Given the description of an element on the screen output the (x, y) to click on. 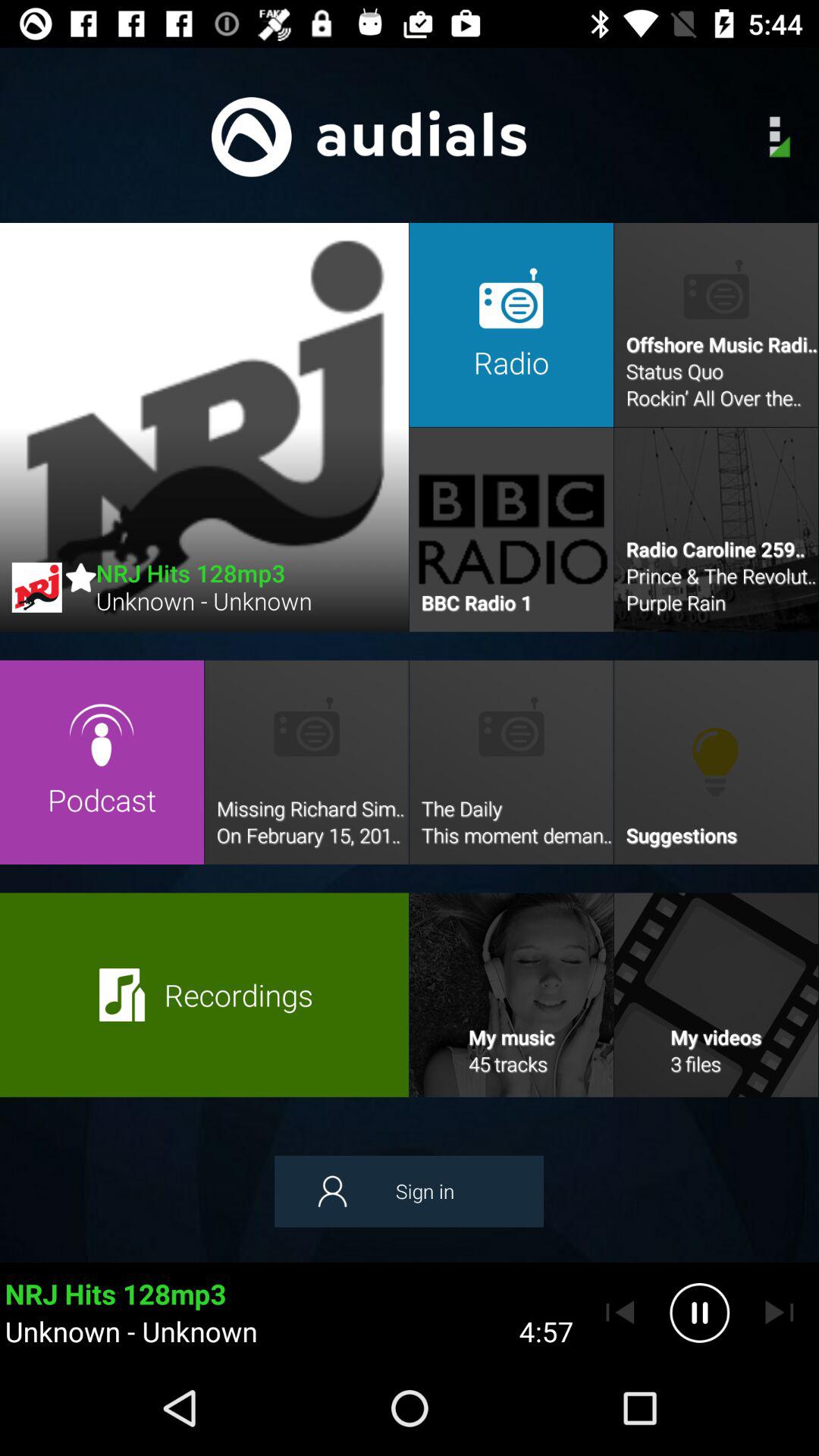
skip to next song (779, 1312)
